Given the description of an element on the screen output the (x, y) to click on. 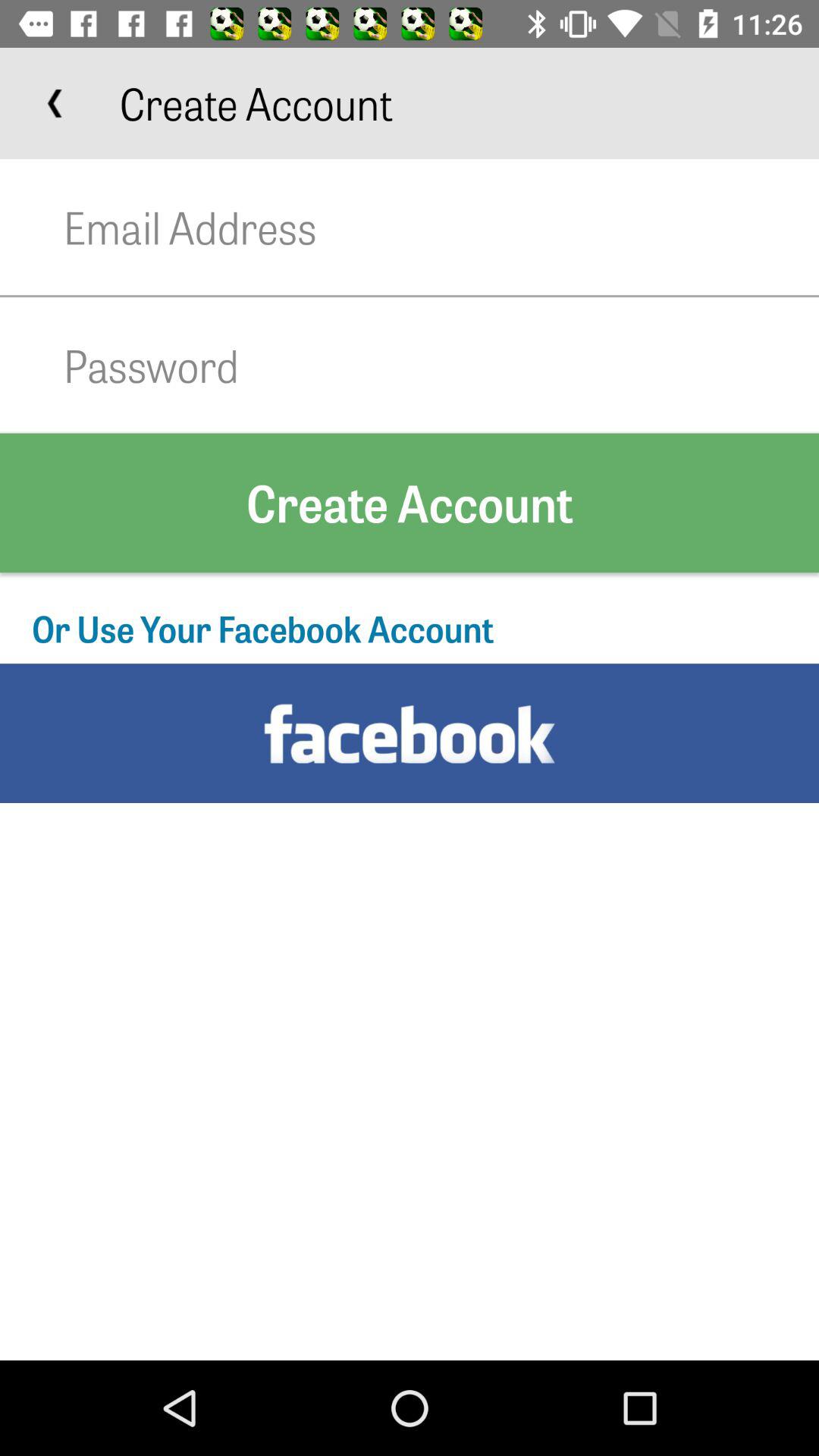
email text box (441, 227)
